Given the description of an element on the screen output the (x, y) to click on. 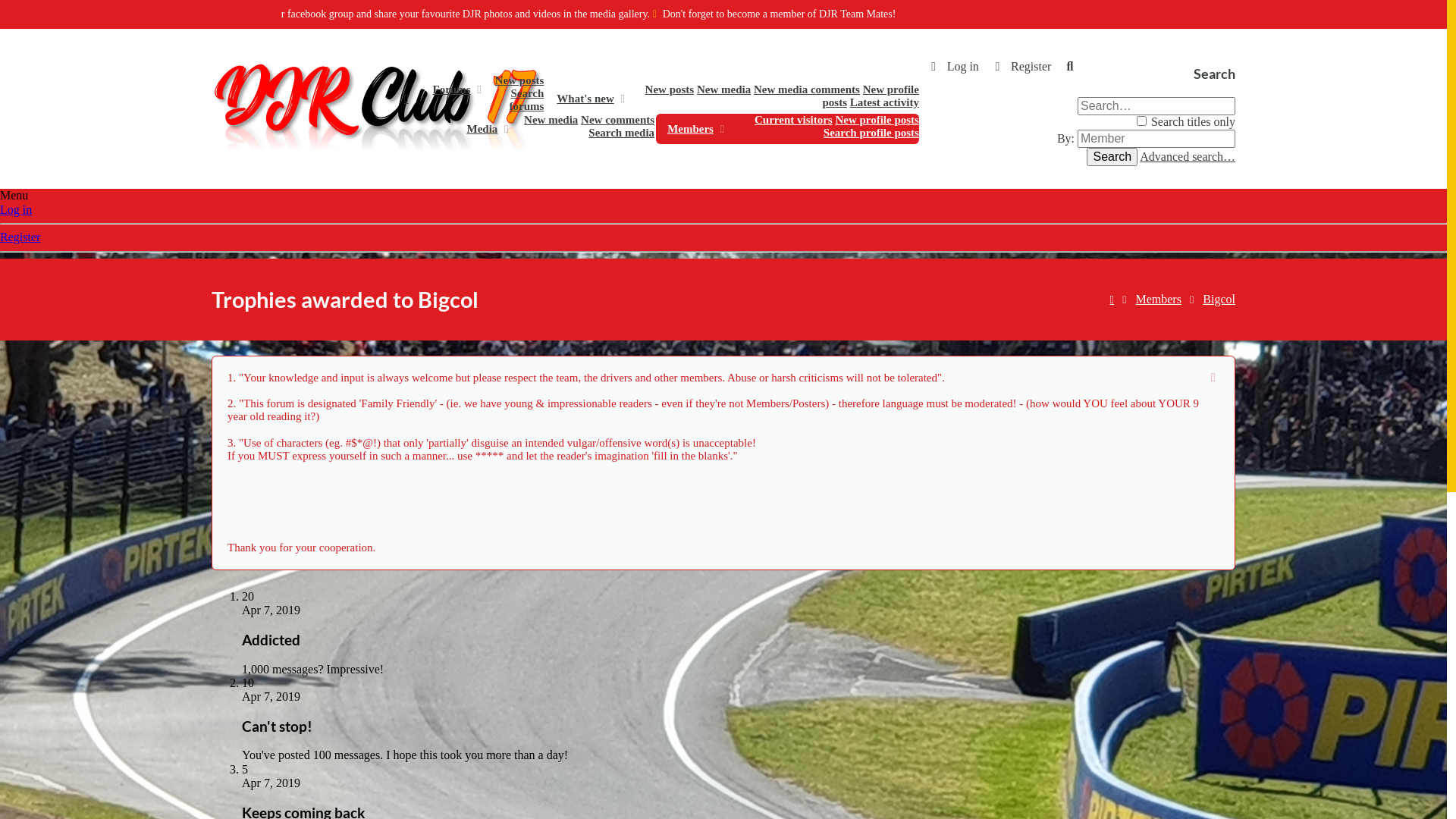
Log in Element type: text (952, 66)
Home Element type: text (405, 98)
New media Element type: text (723, 89)
Forums Element type: text (447, 89)
Register Element type: text (1020, 66)
New posts Element type: text (519, 80)
Log in Element type: text (15, 209)
Search Element type: hover (1069, 66)
Members Element type: text (1157, 299)
Media Element type: text (477, 128)
Members Element type: text (685, 128)
New media Element type: text (550, 119)
Home Element type: text (1111, 301)
New comments Element type: text (617, 119)
Search media Element type: text (621, 132)
Bigcol Element type: text (1218, 299)
New profile posts Element type: text (876, 119)
Search forums Element type: text (526, 99)
Search profile posts Element type: text (871, 132)
What's new Element type: text (580, 98)
Register Element type: text (20, 236)
Current visitors Element type: text (793, 119)
New profile posts Element type: text (870, 95)
New media comments Element type: text (806, 89)
New posts Element type: text (669, 89)
Latest activity Element type: text (884, 102)
Search Element type: text (1111, 156)
